Given the description of an element on the screen output the (x, y) to click on. 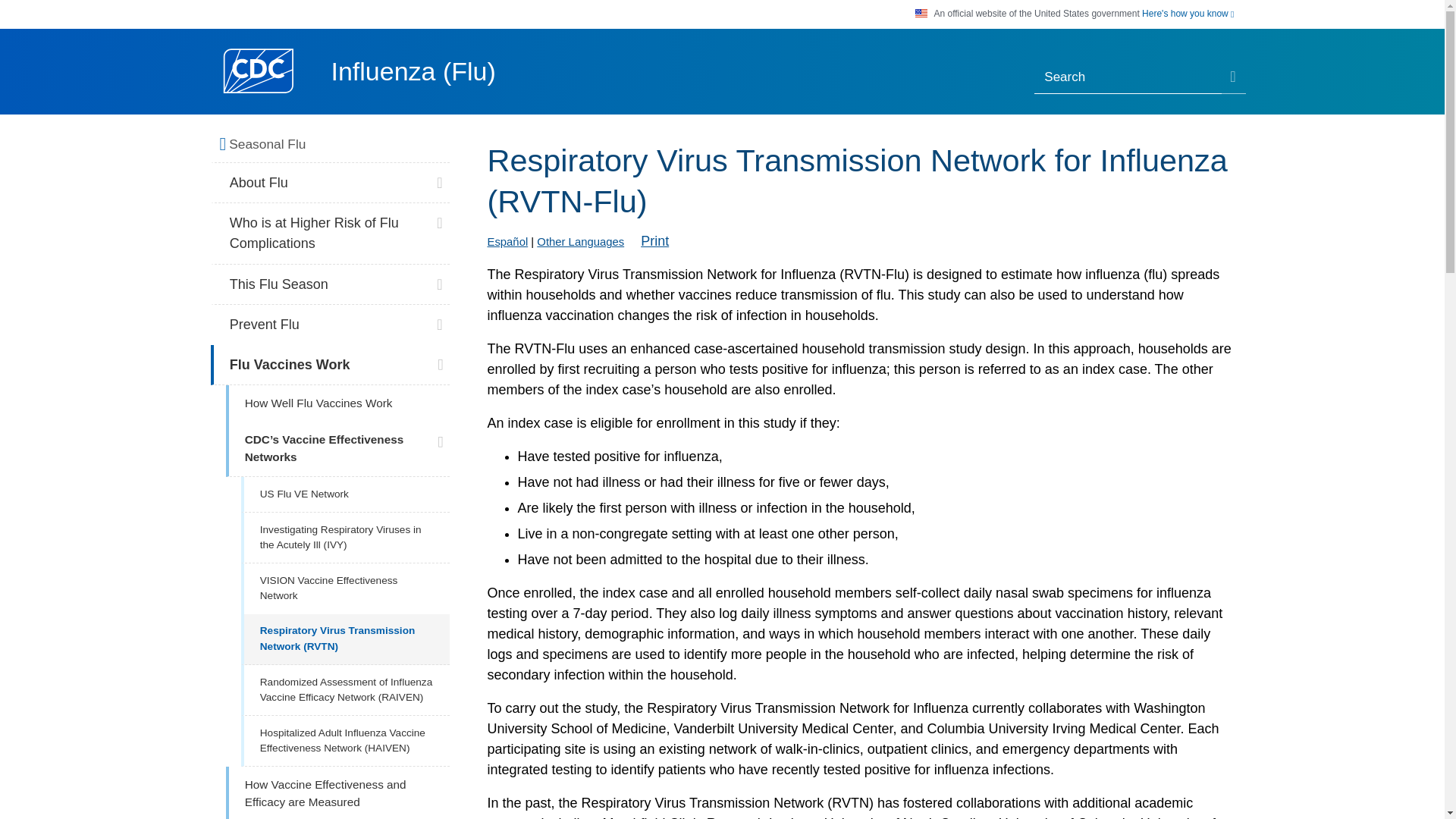
Here's how you know (1187, 14)
Submit (1233, 78)
